Given the description of an element on the screen output the (x, y) to click on. 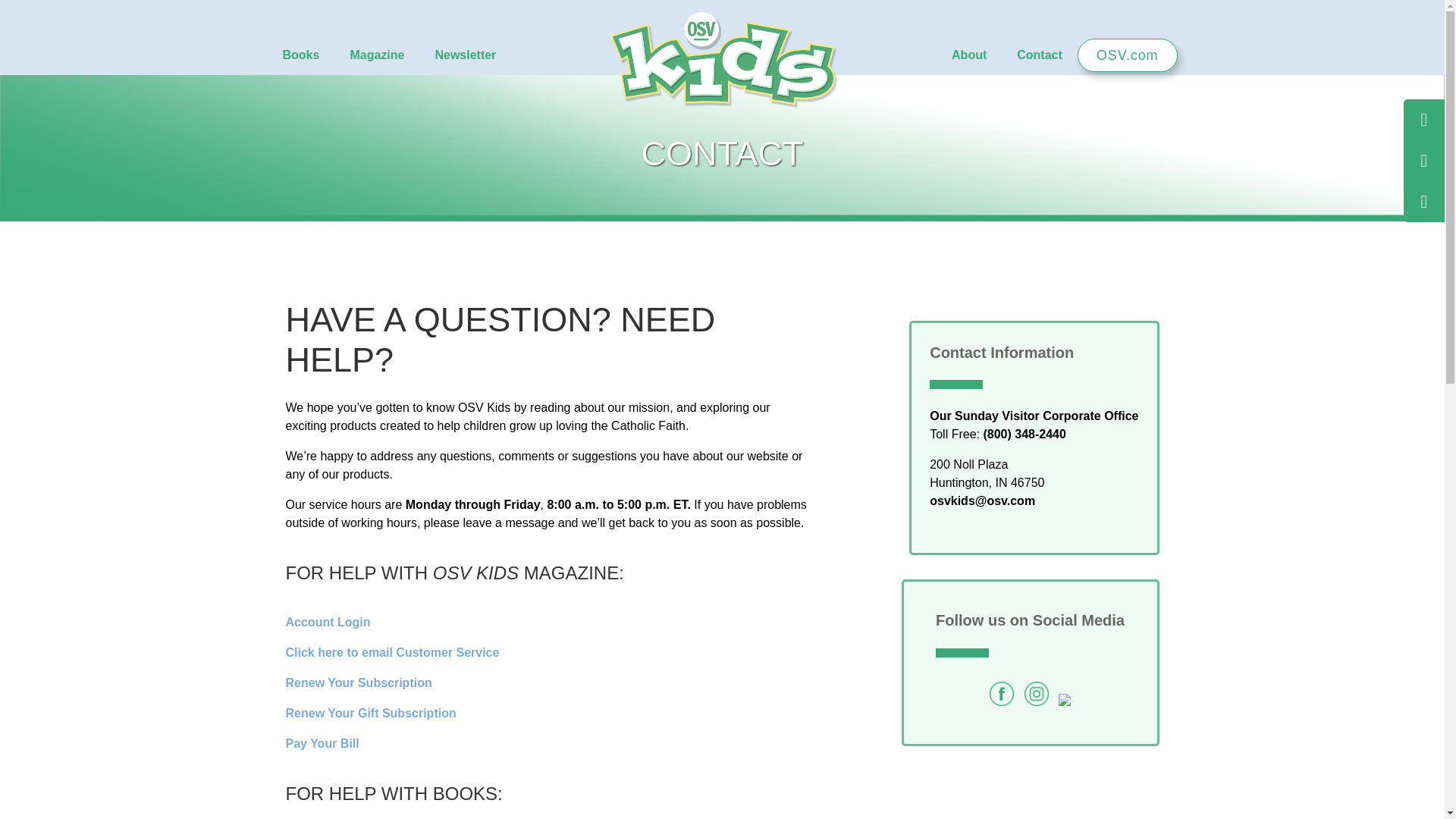
Renew Your Gift Subscription (370, 712)
Magazine (376, 55)
Newsletter (465, 55)
Click here to email Customer Service (392, 652)
Books (300, 55)
OSV.com (1127, 55)
Contact (1039, 55)
Account Login (327, 621)
Renew Your Subscription (357, 682)
About (968, 55)
